Given the description of an element on the screen output the (x, y) to click on. 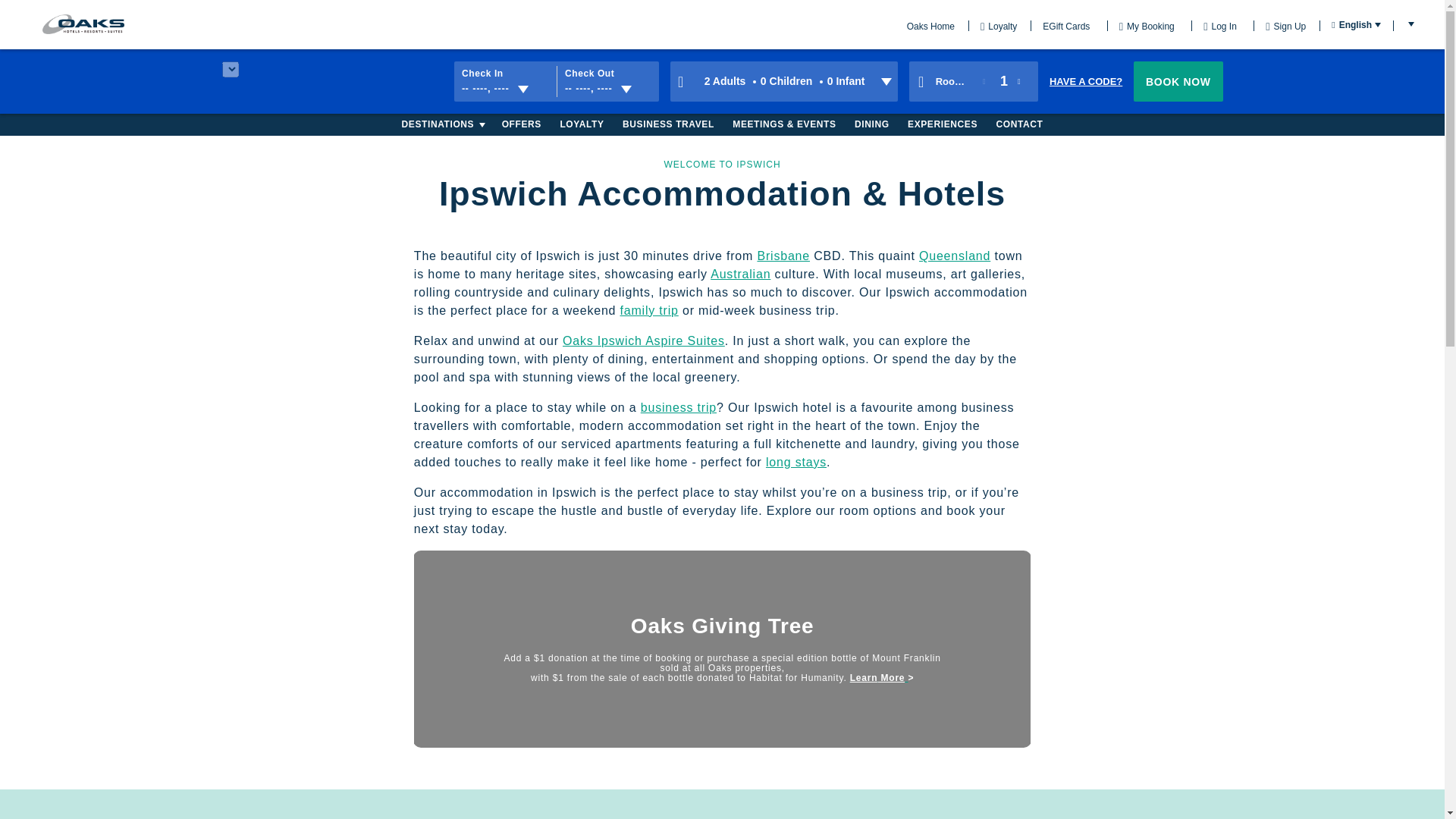
Loyalty (992, 26)
EGift Cards (1060, 26)
DESTINATIONS (437, 123)
Primary navigation (504, 81)
BOOK NOW (1349, 24)
Oaks Home (1178, 81)
HAVE A CODE? (931, 26)
Log In (1084, 81)
